Given the description of an element on the screen output the (x, y) to click on. 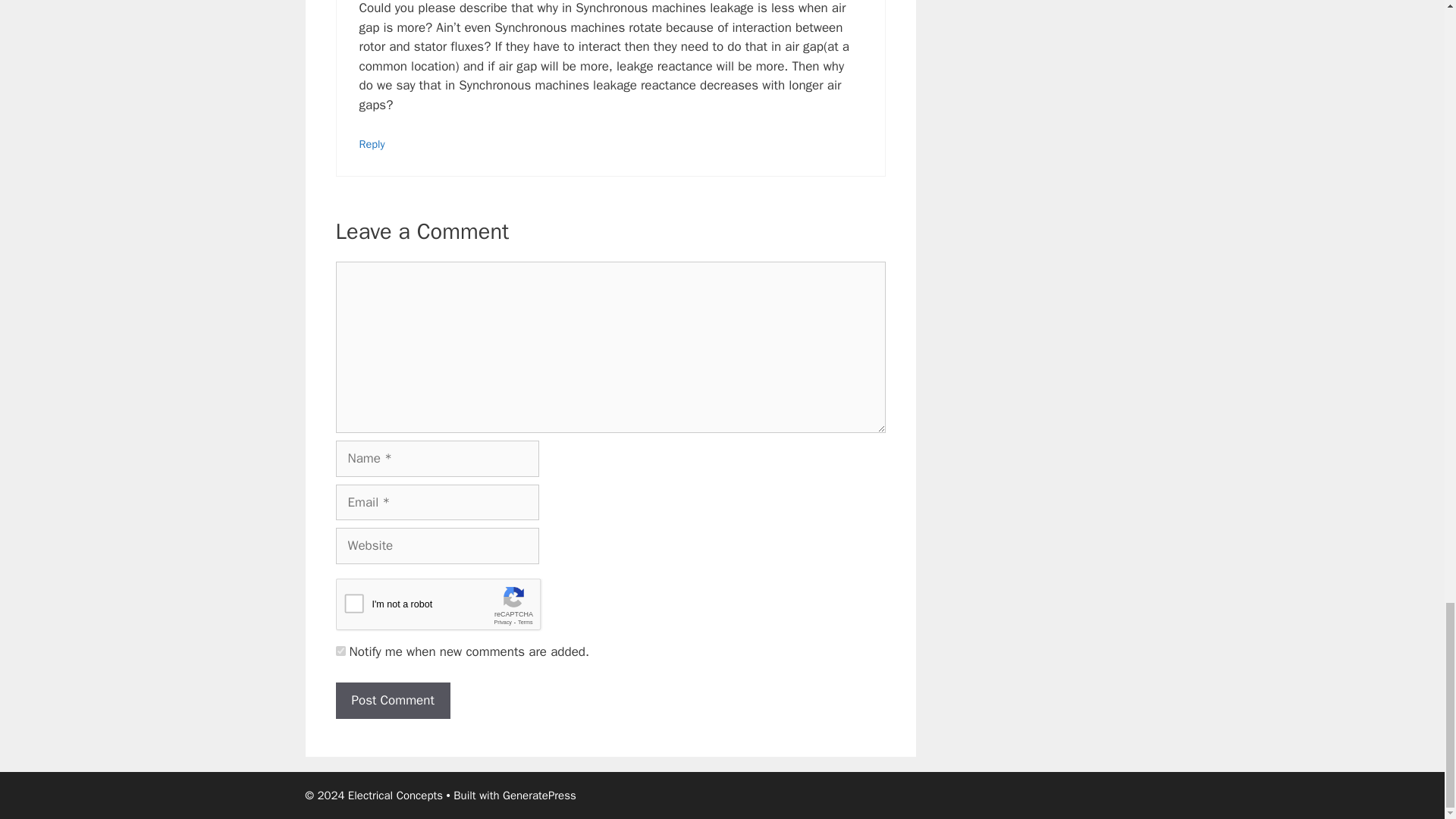
1 (339, 651)
Post Comment (391, 700)
Post Comment (391, 700)
reCAPTCHA (450, 608)
Reply (372, 143)
